Given the description of an element on the screen output the (x, y) to click on. 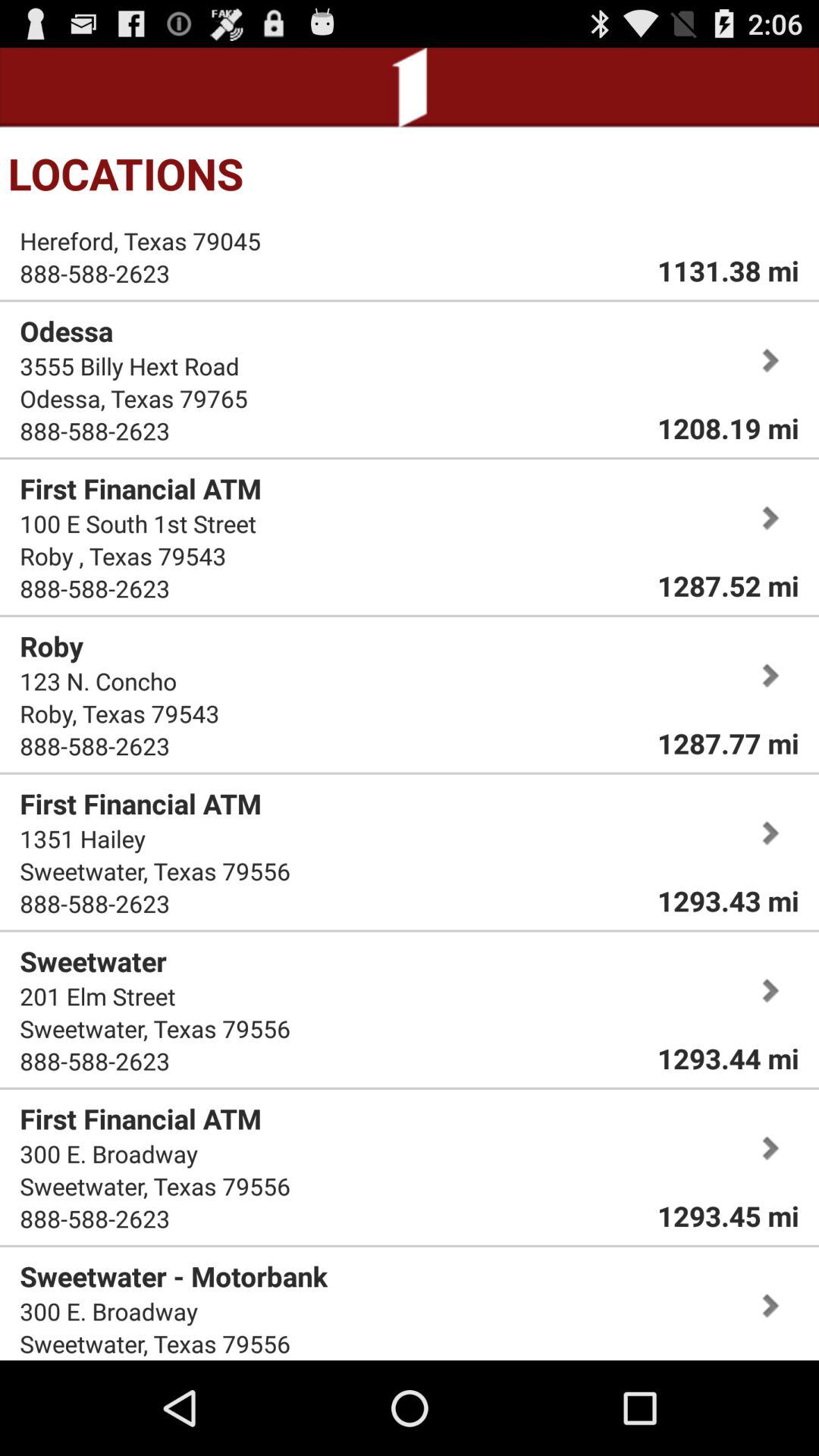
tap the icon to the right of hereford, texas 79045 icon (728, 270)
